Given the description of an element on the screen output the (x, y) to click on. 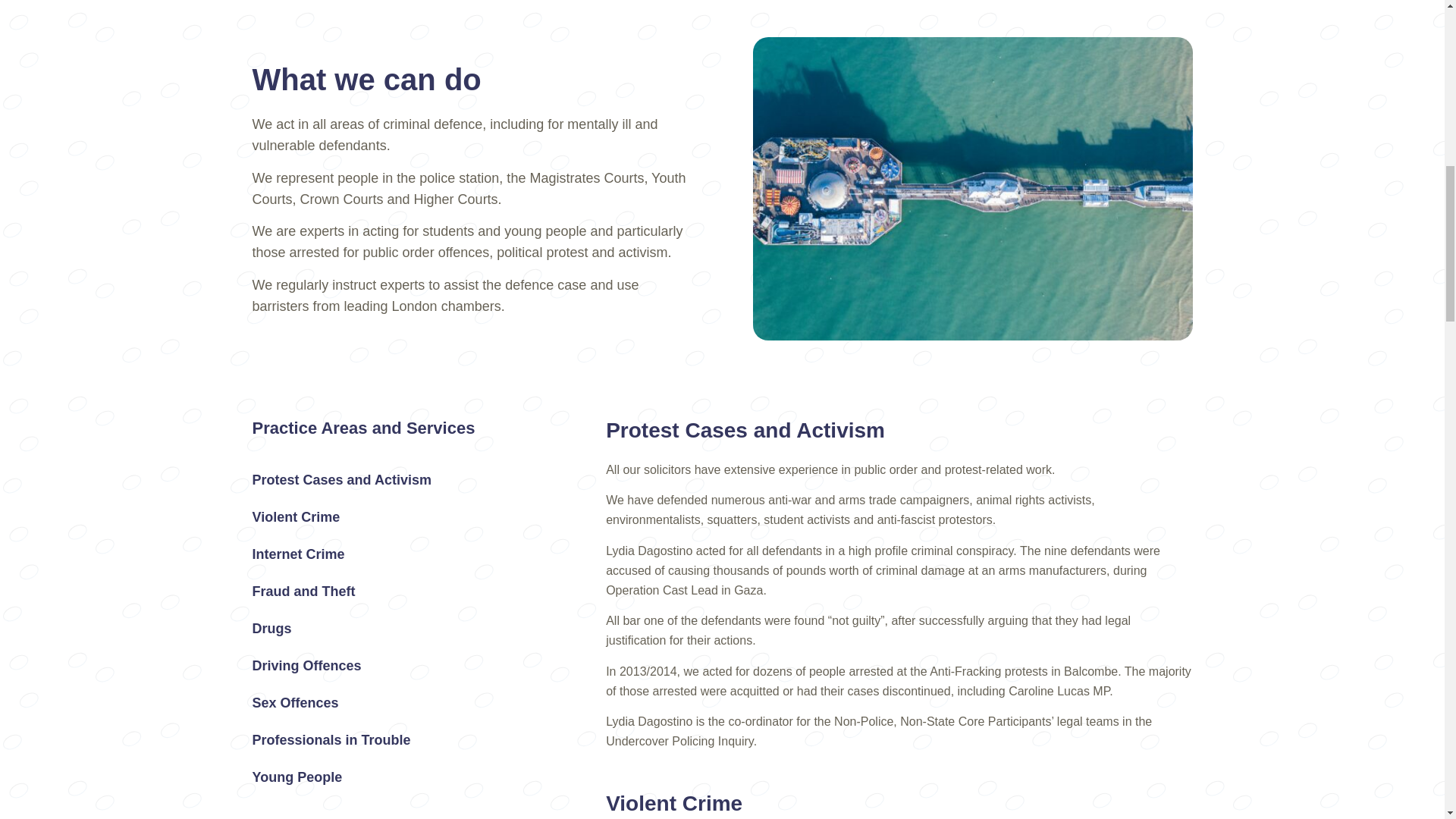
Fraud and Theft (397, 591)
Violent Crime (397, 516)
Professionals in Trouble (397, 739)
Drugs (397, 628)
Young People (397, 776)
Sex Offences (397, 702)
Protest Cases and Activism (397, 479)
Driving Offences (397, 665)
Internet Crime (397, 553)
